Given the description of an element on the screen output the (x, y) to click on. 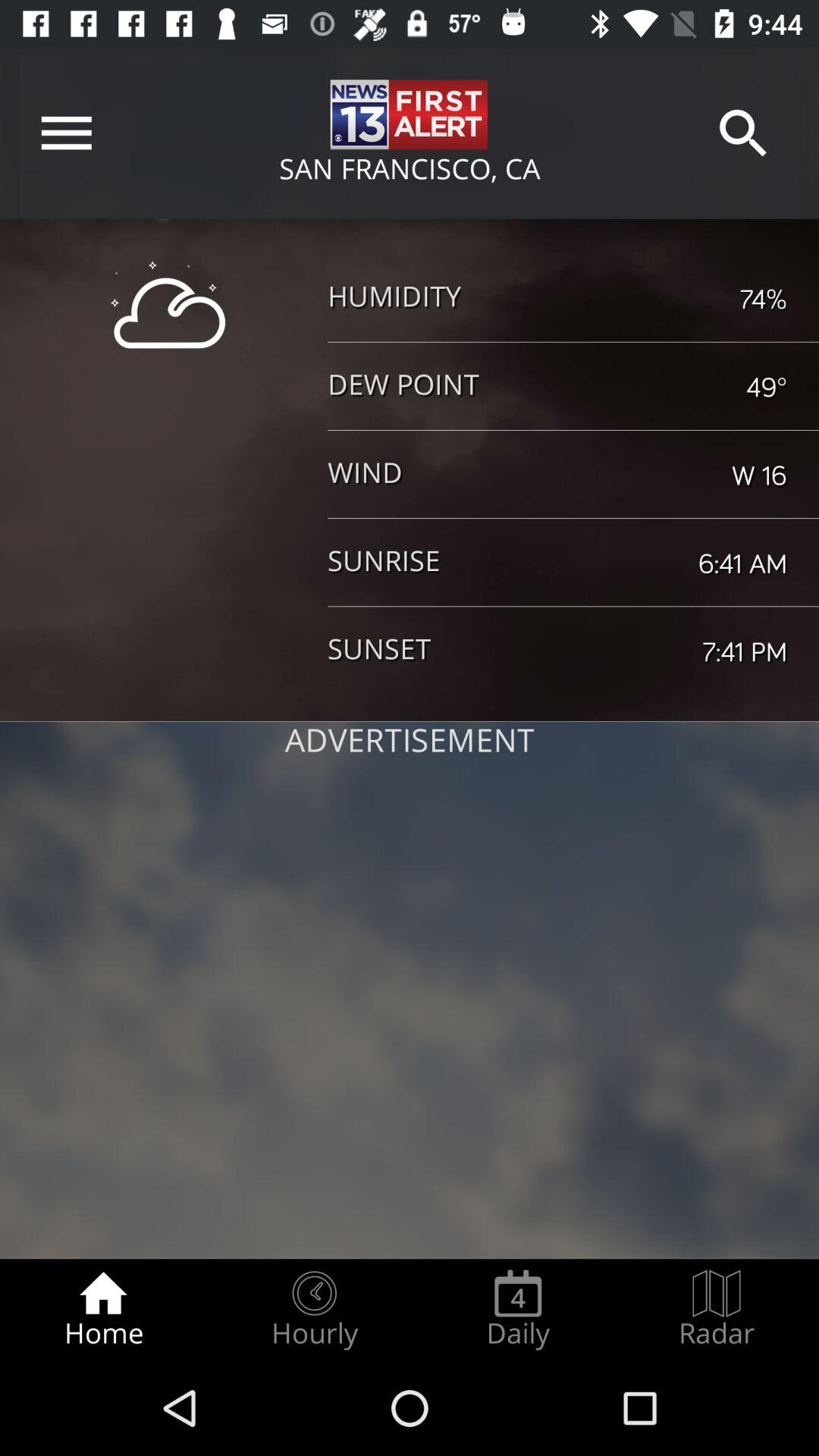
open icon to the left of daily radio button (314, 1309)
